Given the description of an element on the screen output the (x, y) to click on. 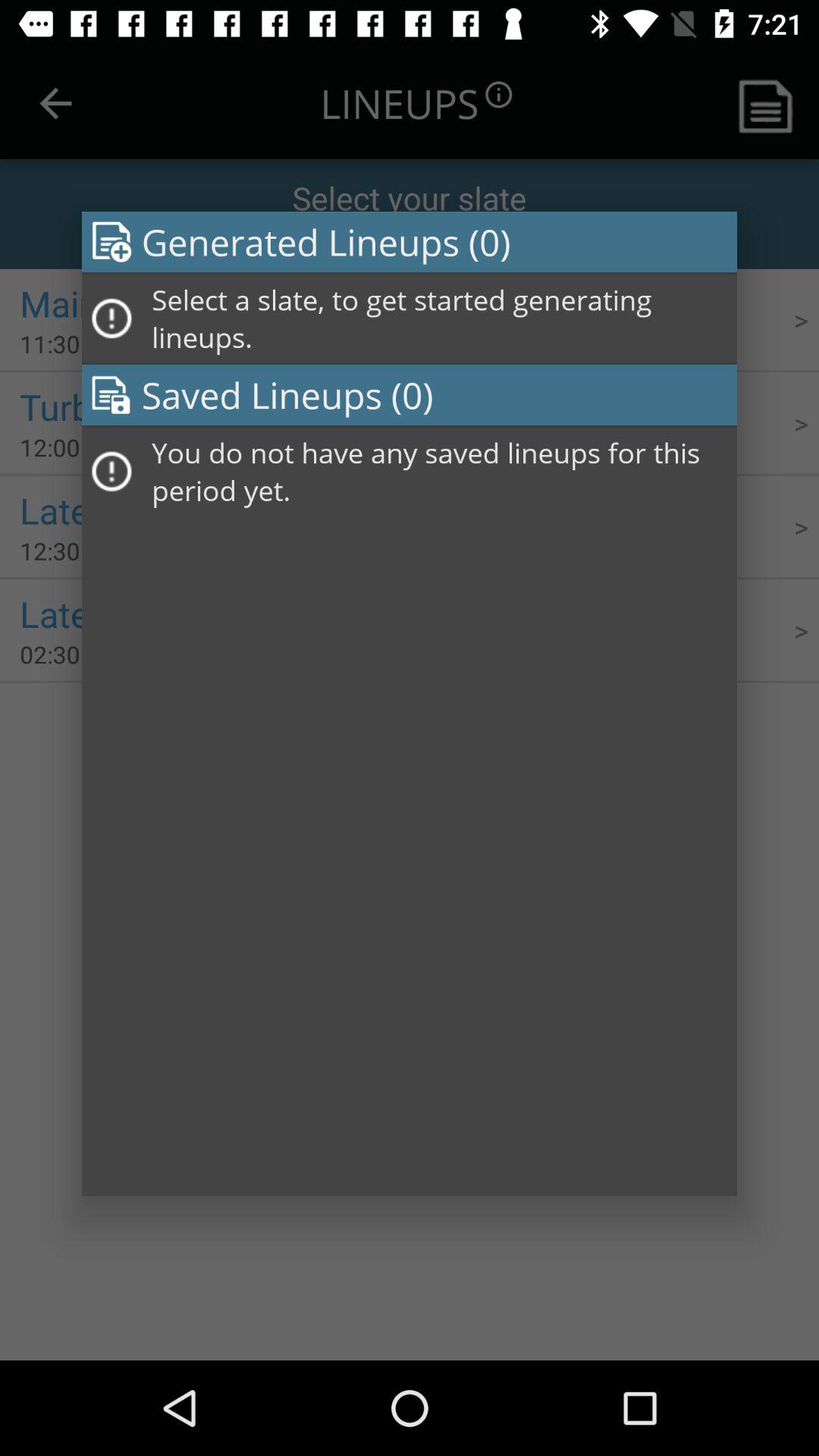
swipe to select a slate (438, 318)
